Given the description of an element on the screen output the (x, y) to click on. 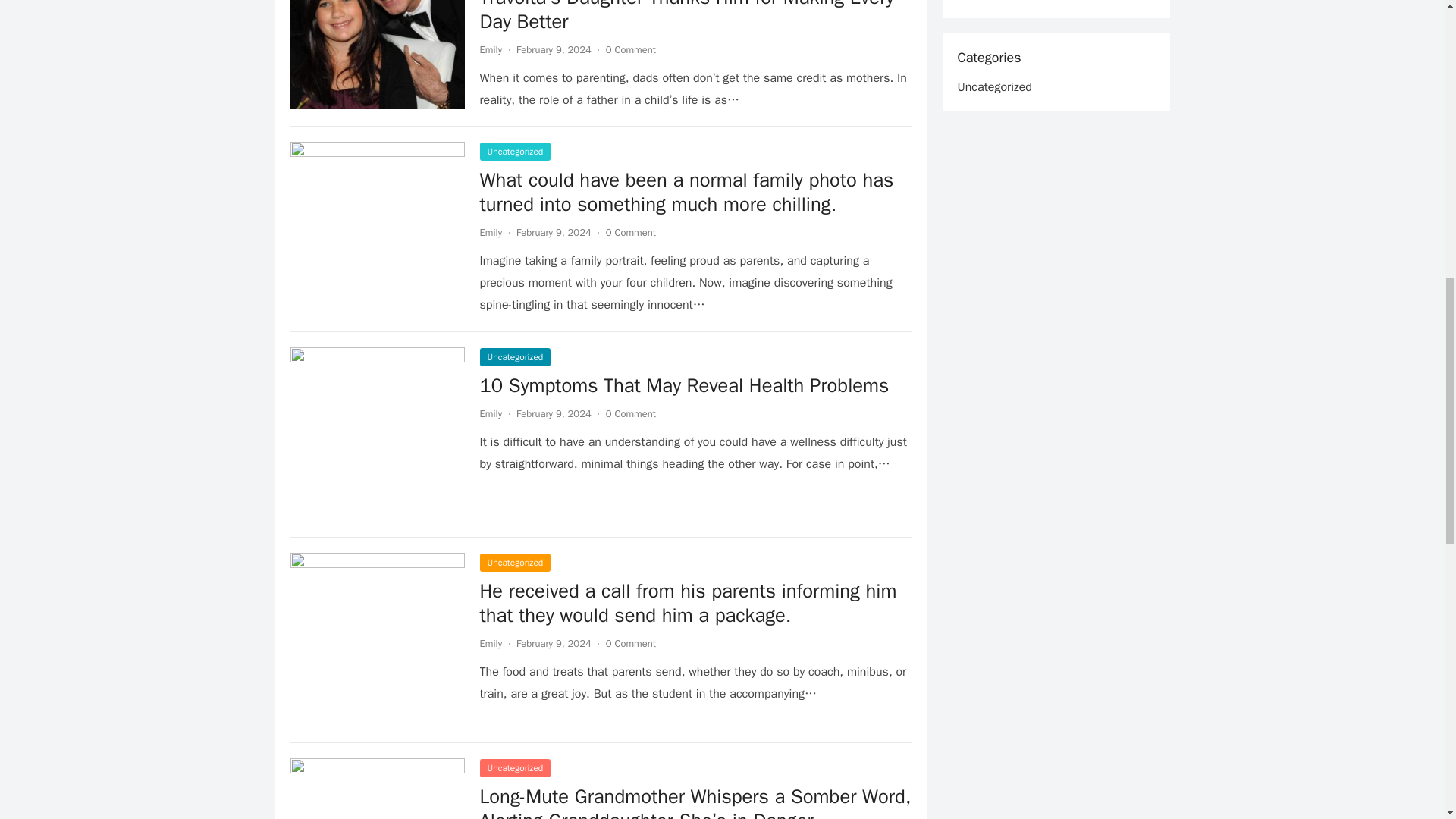
Uncategorized (514, 562)
10 Symptoms That May Reveal Health Problems (683, 385)
Emily (490, 413)
Posts by Emily (490, 49)
Emily (490, 643)
Uncategorized (514, 768)
Emily (490, 232)
0 Comment (630, 49)
Emily (490, 49)
